Given the description of an element on the screen output the (x, y) to click on. 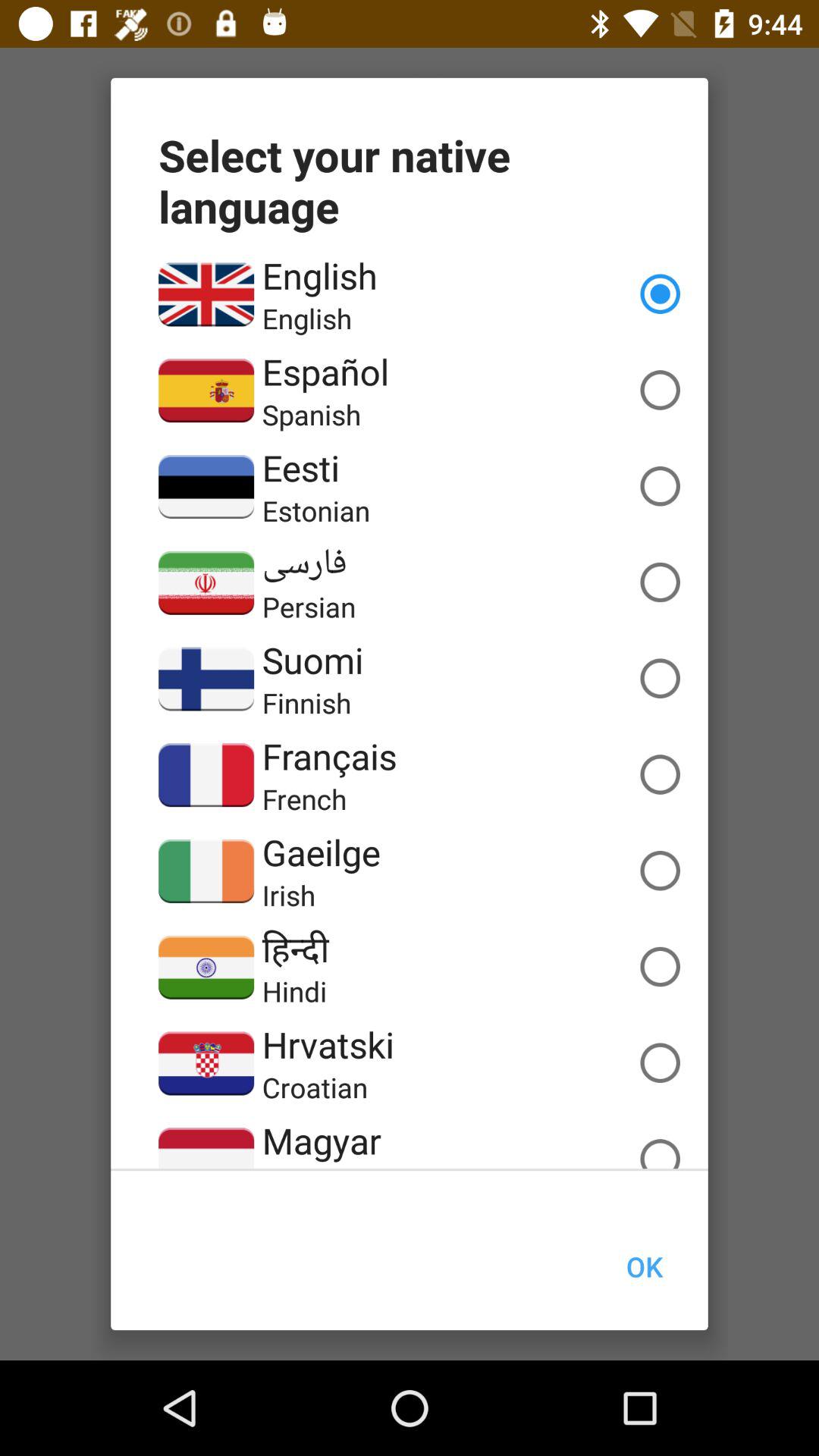
flip to magyar item (321, 1140)
